Given the description of an element on the screen output the (x, y) to click on. 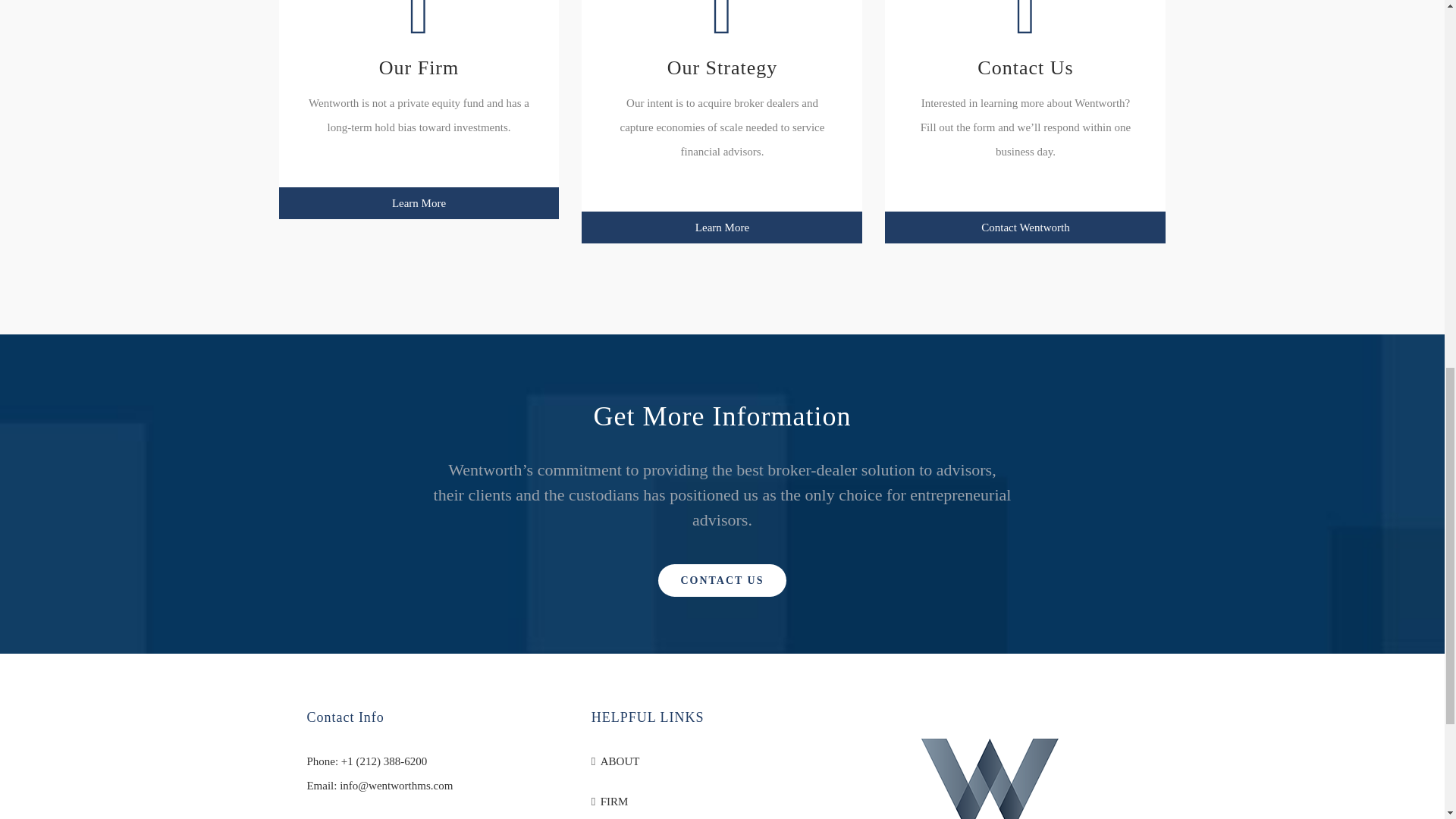
ABOUT (722, 761)
FIRM (722, 801)
Our Firm (418, 39)
Contact Us (1024, 39)
Learn More (720, 227)
Contact Wentworth (1025, 227)
CONTACT US (722, 580)
Learn More (419, 203)
Our Strategy (721, 39)
